Given the description of an element on the screen output the (x, y) to click on. 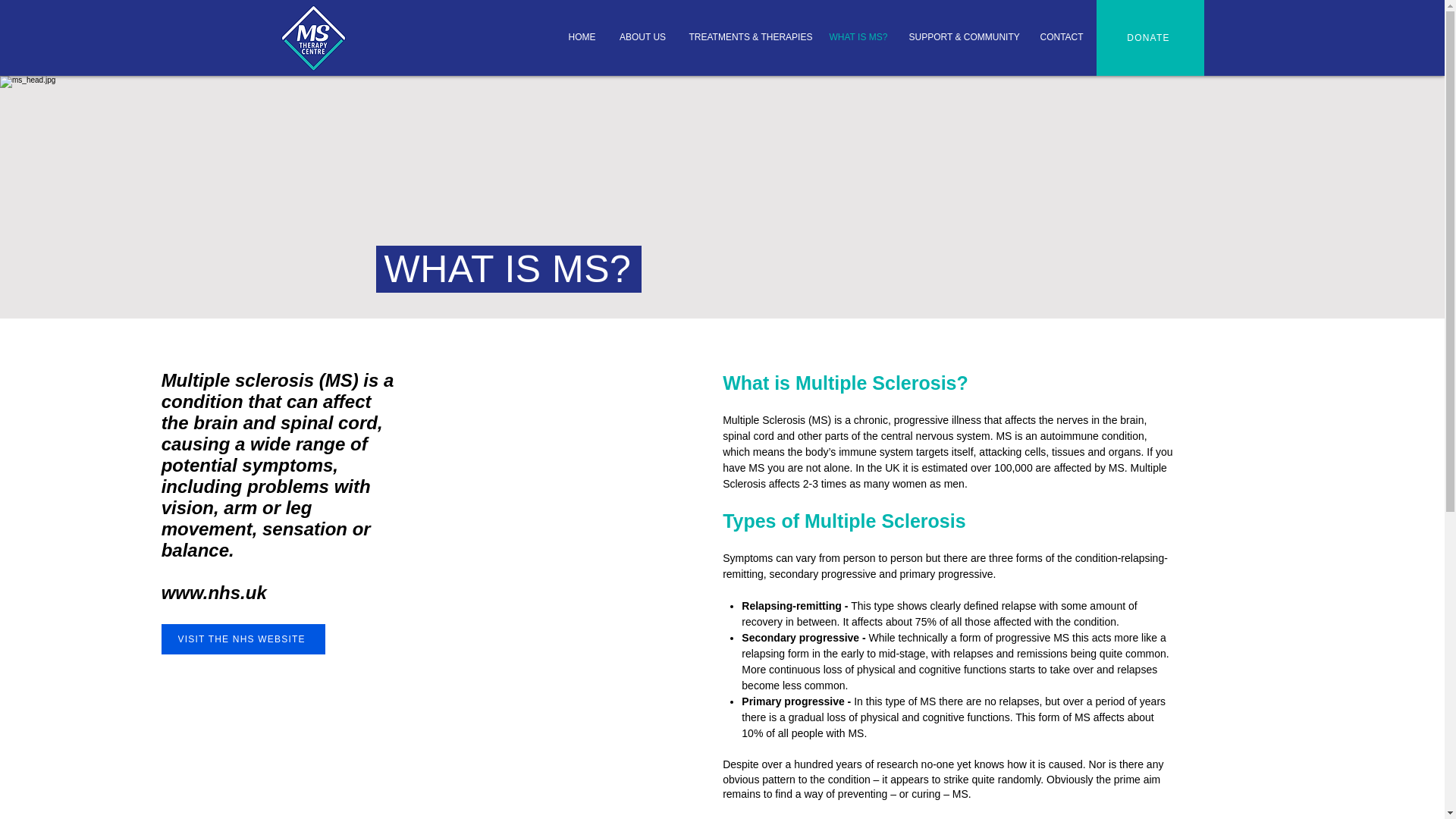
CONTACT (1060, 37)
DONATE (1150, 38)
ABOUT US (643, 37)
HOME (582, 37)
WHAT IS MS? (856, 37)
VISIT THE NHS WEBSITE (242, 639)
